Given the description of an element on the screen output the (x, y) to click on. 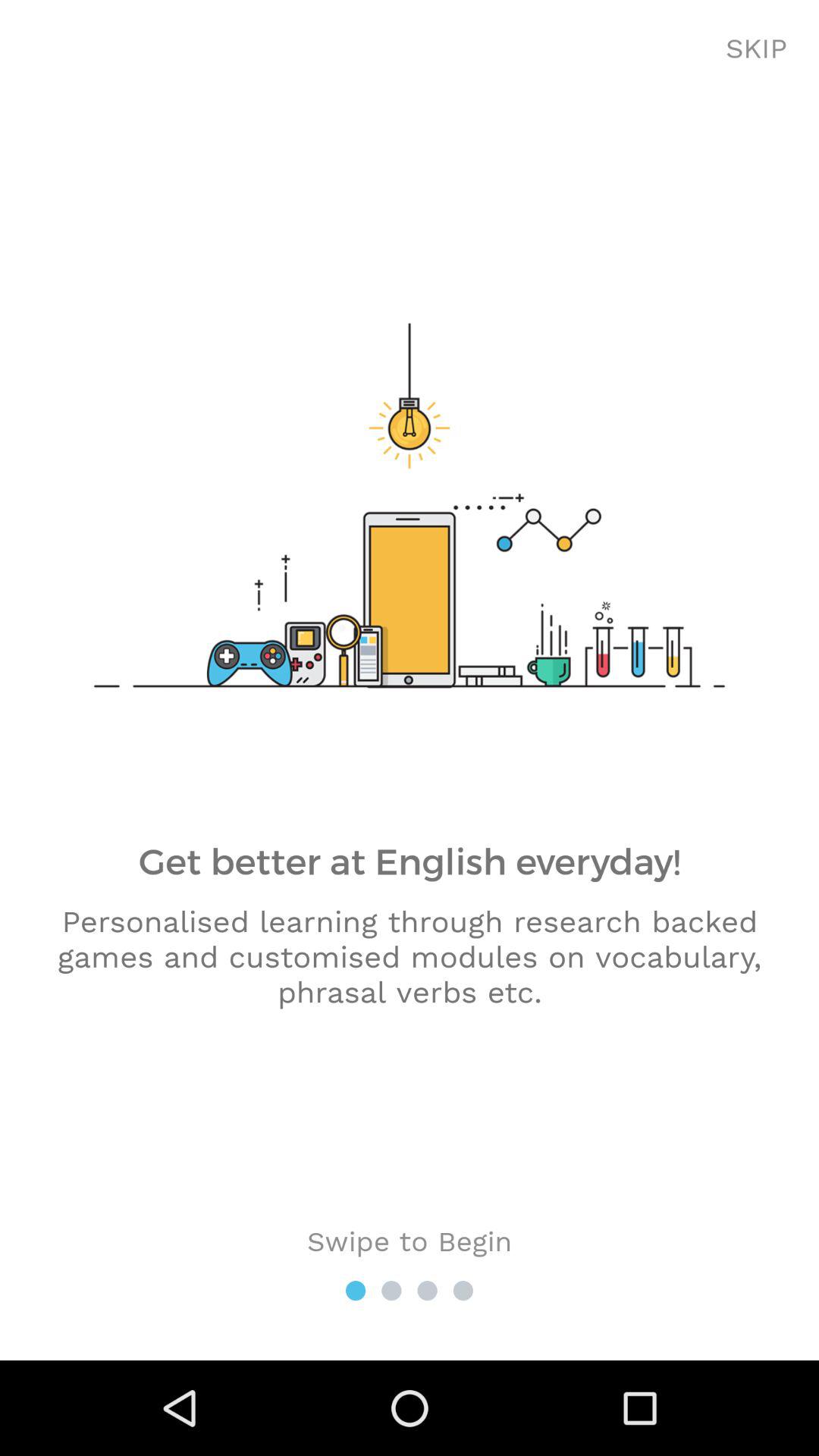
open skip (756, 49)
